Given the description of an element on the screen output the (x, y) to click on. 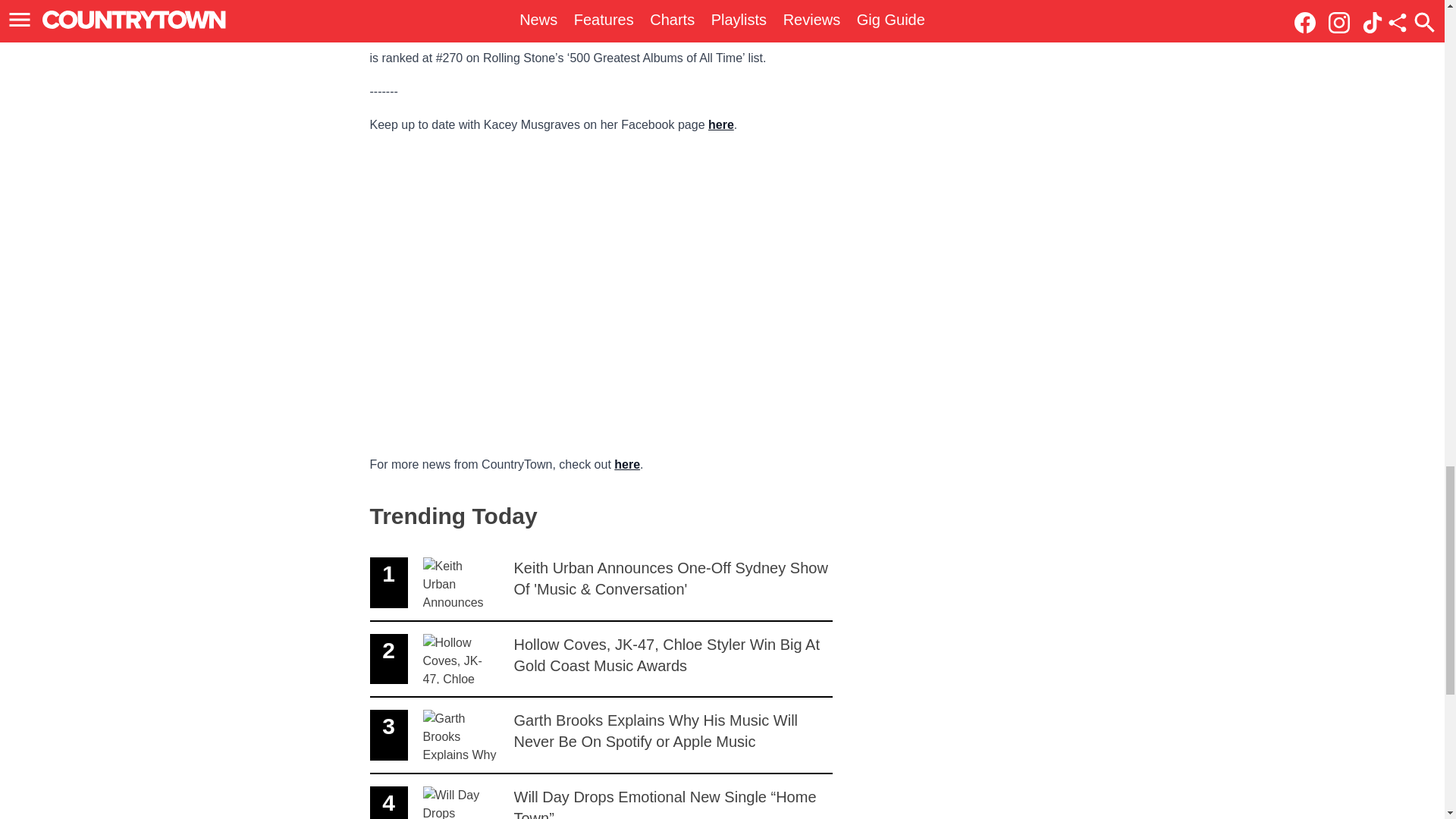
here (720, 124)
here (627, 463)
